Given the description of an element on the screen output the (x, y) to click on. 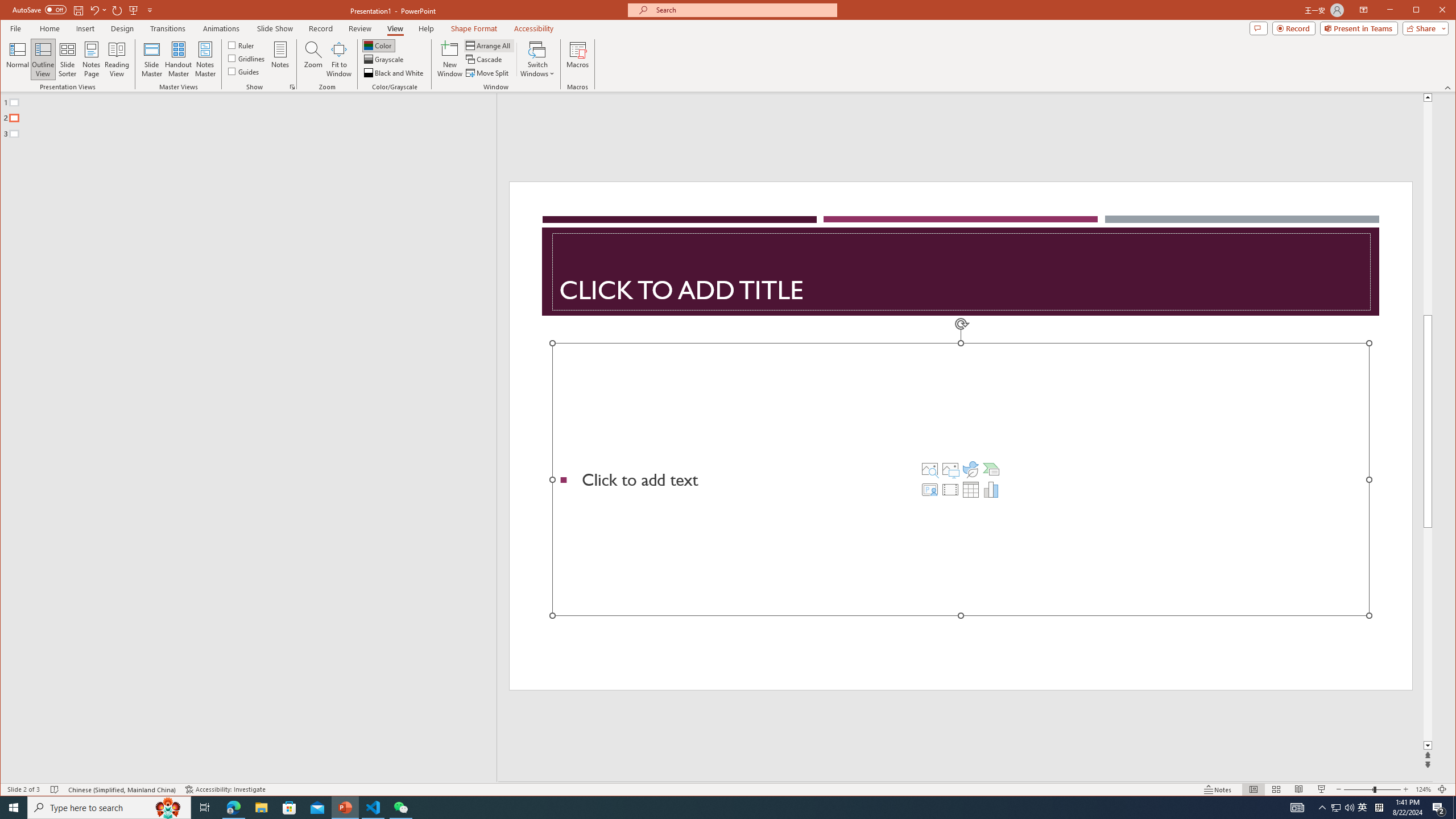
Insert Video (949, 489)
Title TextBox (960, 271)
Switch Windows (537, 59)
Gridlines (246, 57)
Guides (243, 70)
Slide Master (151, 59)
Insert Table (970, 489)
